Given the description of an element on the screen output the (x, y) to click on. 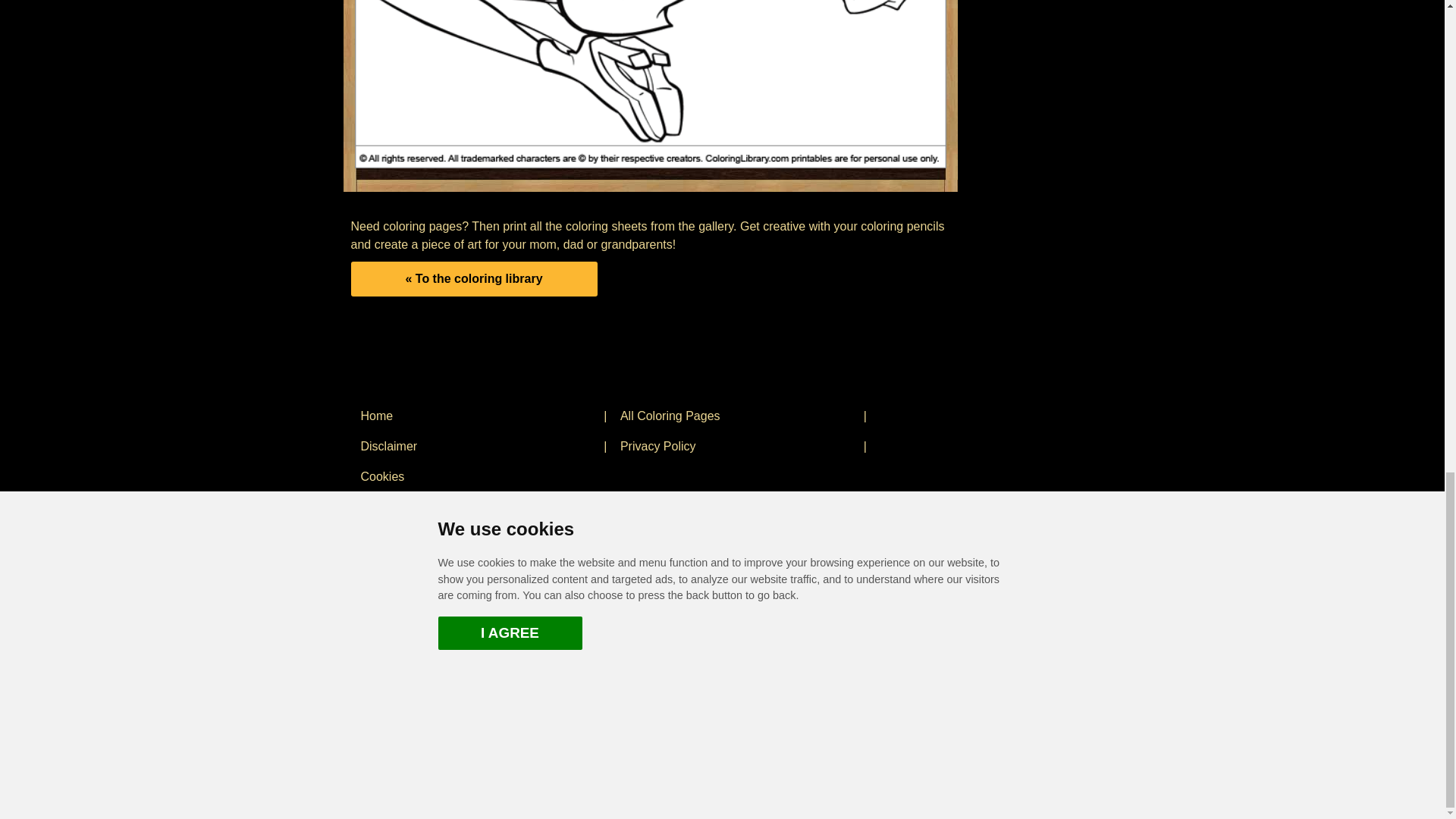
All Coloring Pages (734, 416)
Disclaimer (475, 446)
cookies (475, 476)
Cookies (475, 476)
Privacy Policy (734, 446)
Coloring pages and sheets (734, 416)
 free printable for kids (650, 84)
disclaimer (475, 446)
privacy policy (734, 446)
Free printable coloring pages (475, 416)
Watch fun Magic Egg Surprise movies (482, 627)
Home (475, 416)
To the   coloring library (473, 278)
